Given the description of an element on the screen output the (x, y) to click on. 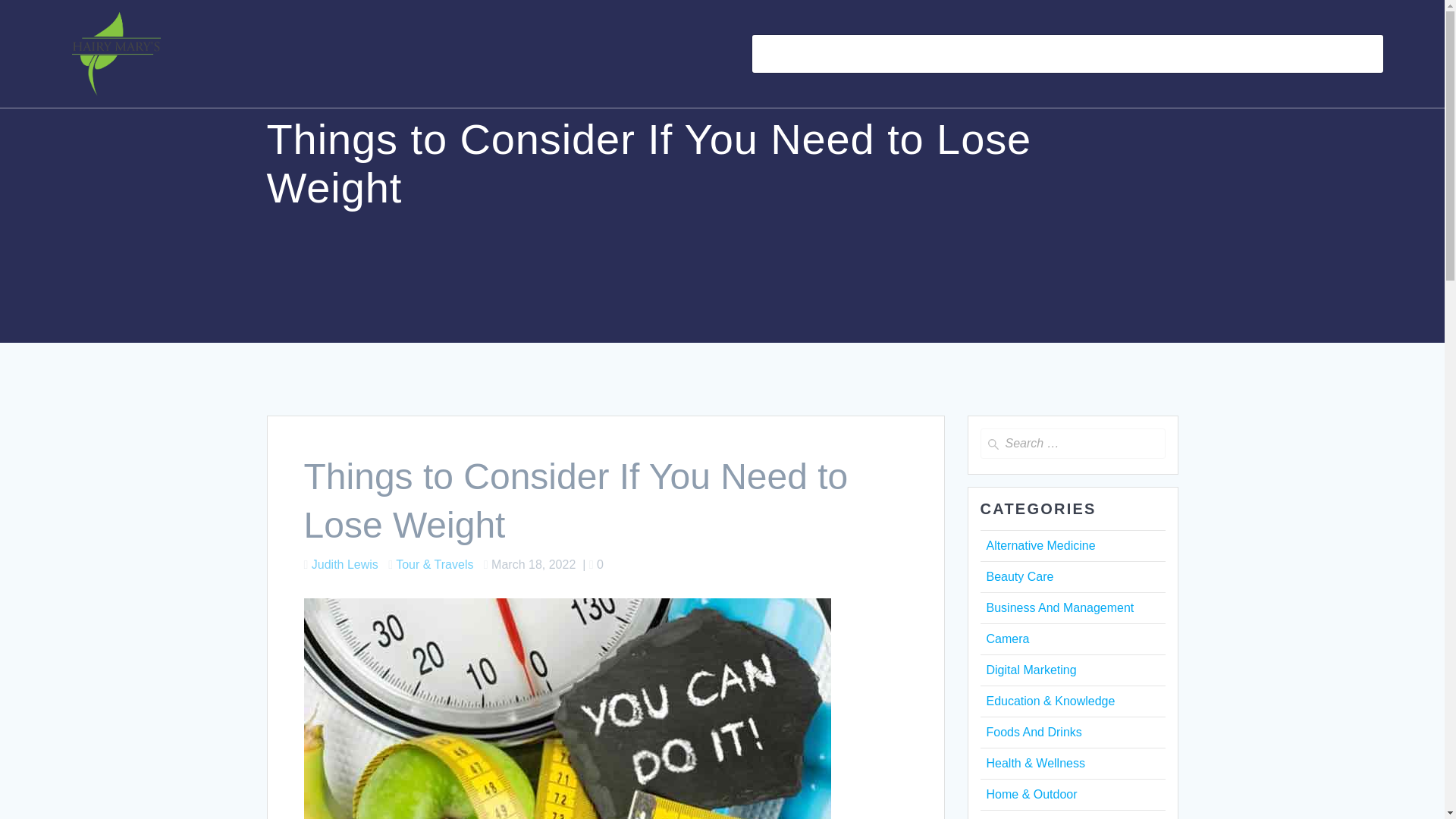
Judith Lewis (344, 563)
Digital Marketing (1030, 669)
HOME (778, 53)
Beauty Care (1018, 576)
Posts by Judith Lewis (344, 563)
Business And Management (1059, 607)
Camera (1007, 638)
CONTACT (1224, 53)
Foods And Drinks (1033, 731)
BLOG (833, 53)
